Given the description of an element on the screen output the (x, y) to click on. 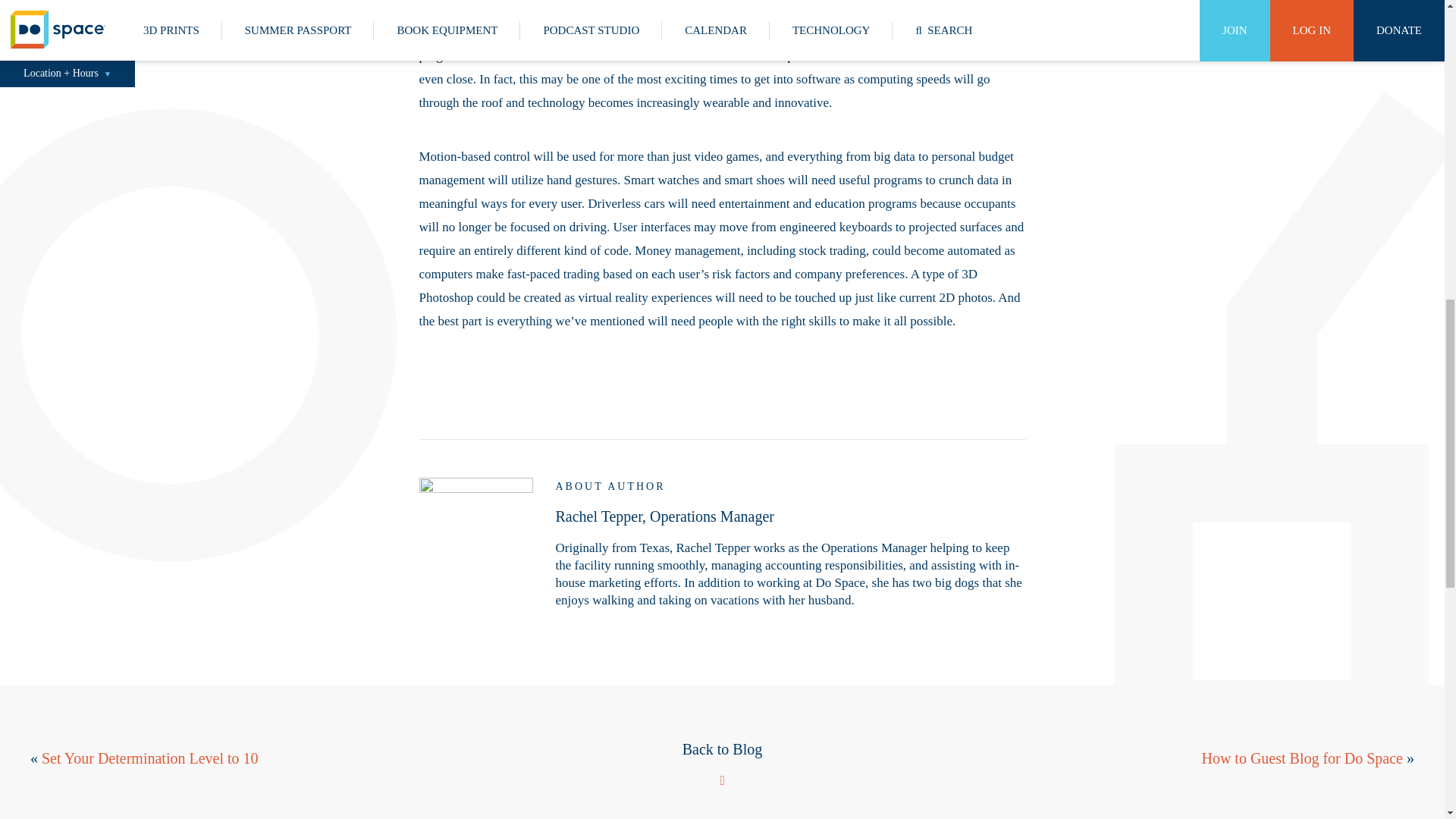
Set Your Determination Level to 10 (150, 757)
Back to Blog (722, 762)
How to Guest Blog for Do Space (1302, 757)
